Given the description of an element on the screen output the (x, y) to click on. 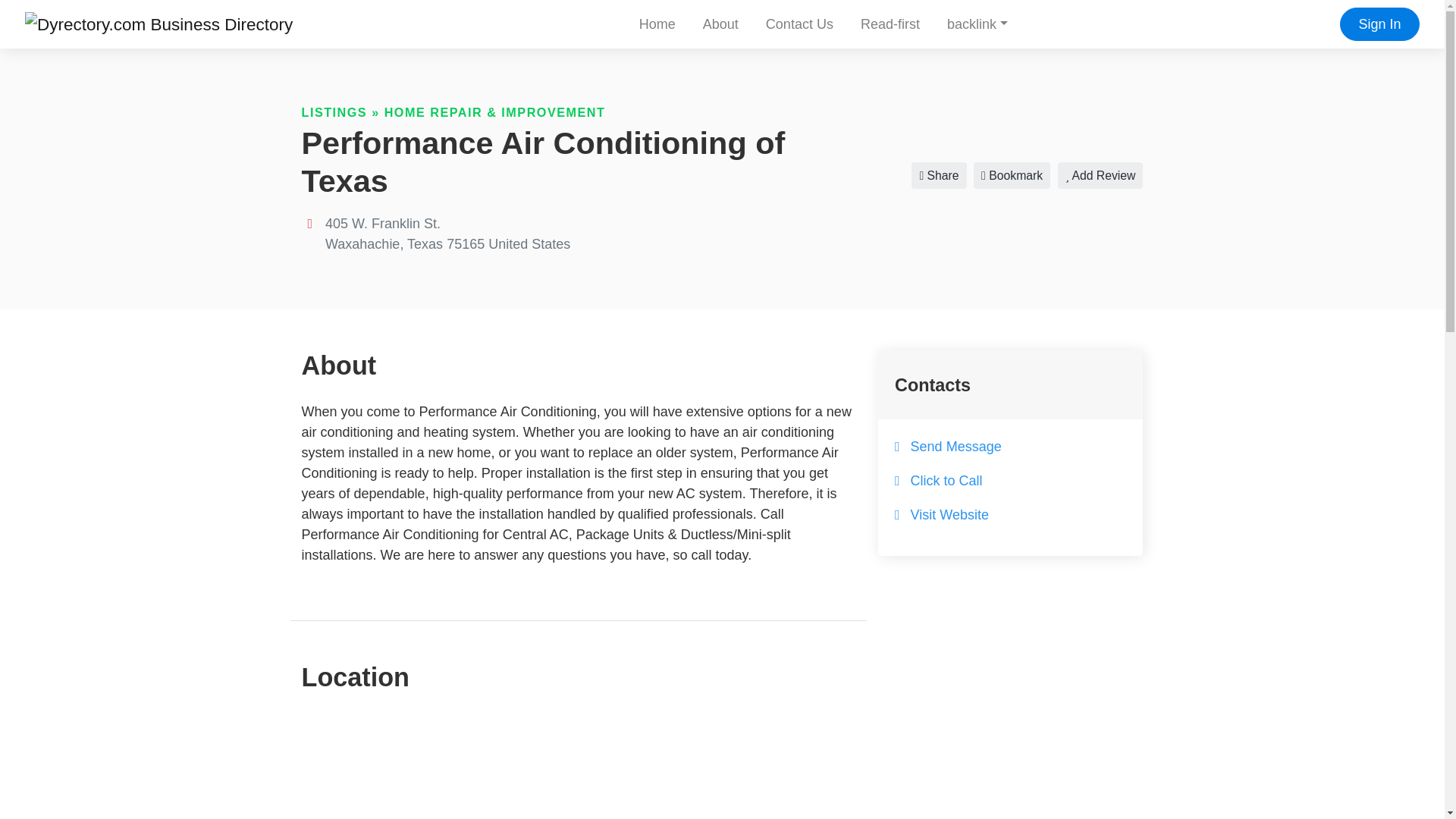
Send Message (956, 446)
Contact Us (799, 24)
Home (657, 24)
Sign In (1379, 23)
Bookmark (1011, 175)
Add Review (1100, 175)
Read-first (890, 24)
Visit Website (949, 514)
backlink (977, 24)
LISTINGS (334, 111)
